Given the description of an element on the screen output the (x, y) to click on. 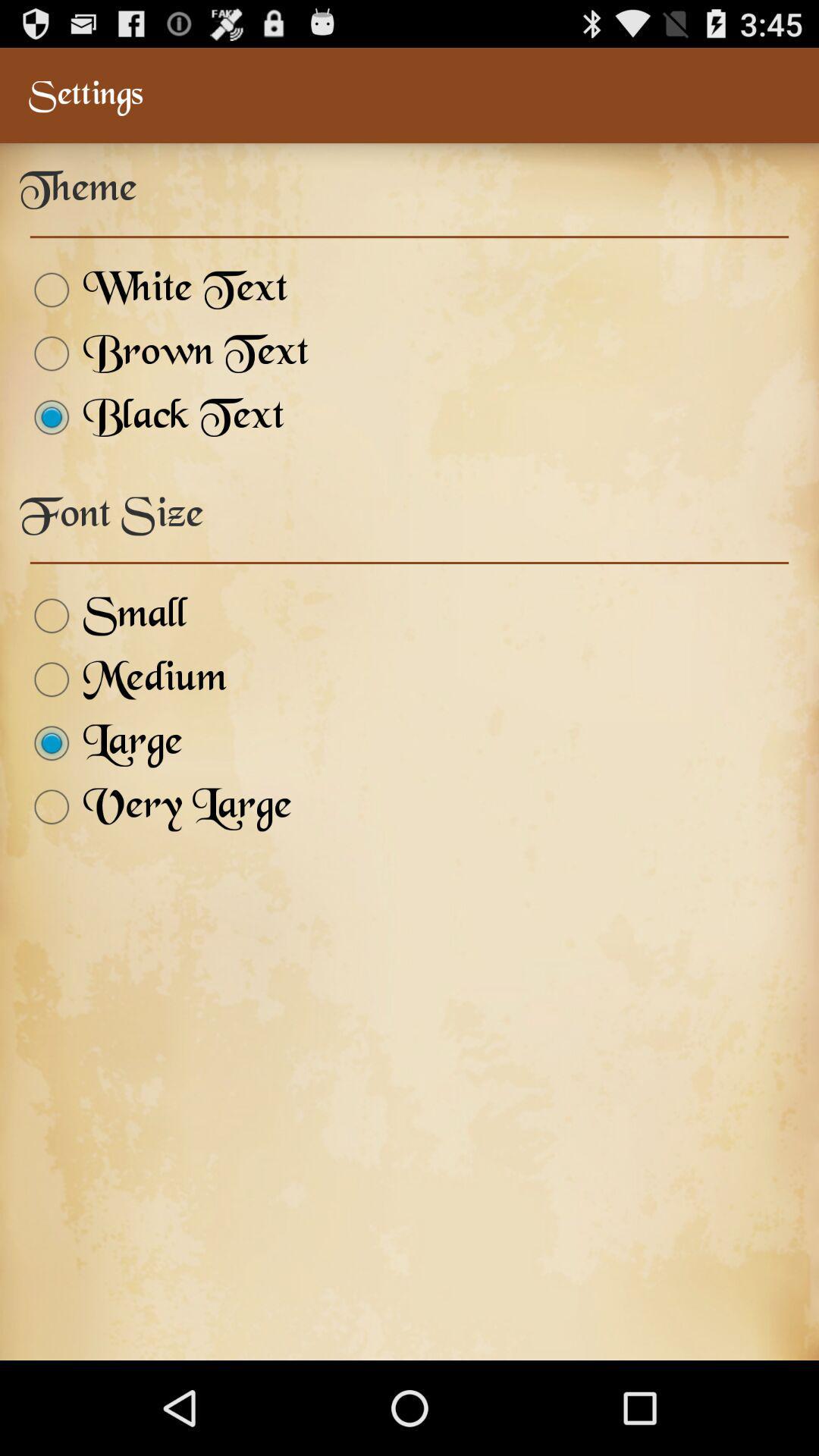
select the item below large (155, 806)
